Given the description of an element on the screen output the (x, y) to click on. 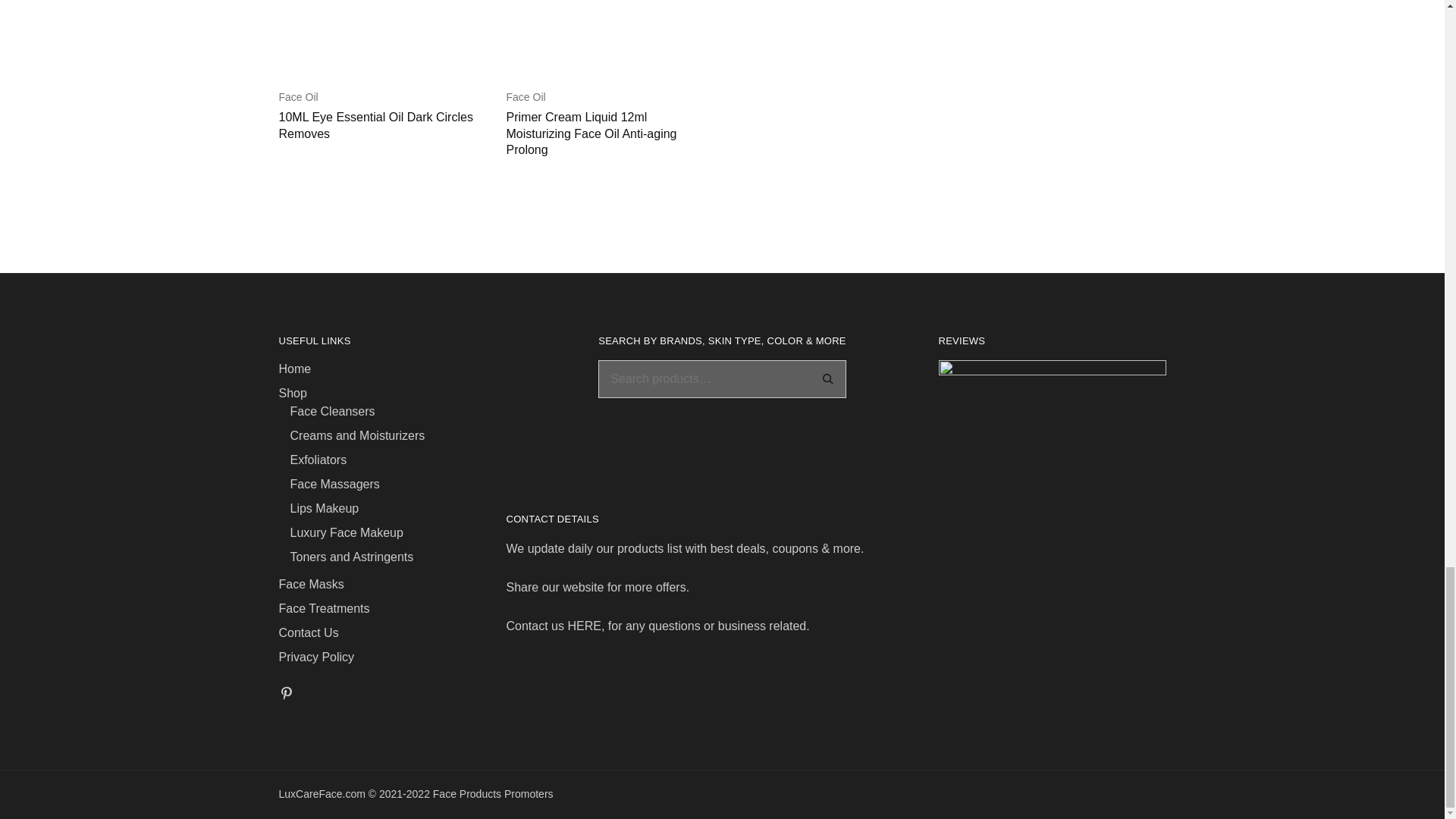
Pinterest (286, 694)
